Given the description of an element on the screen output the (x, y) to click on. 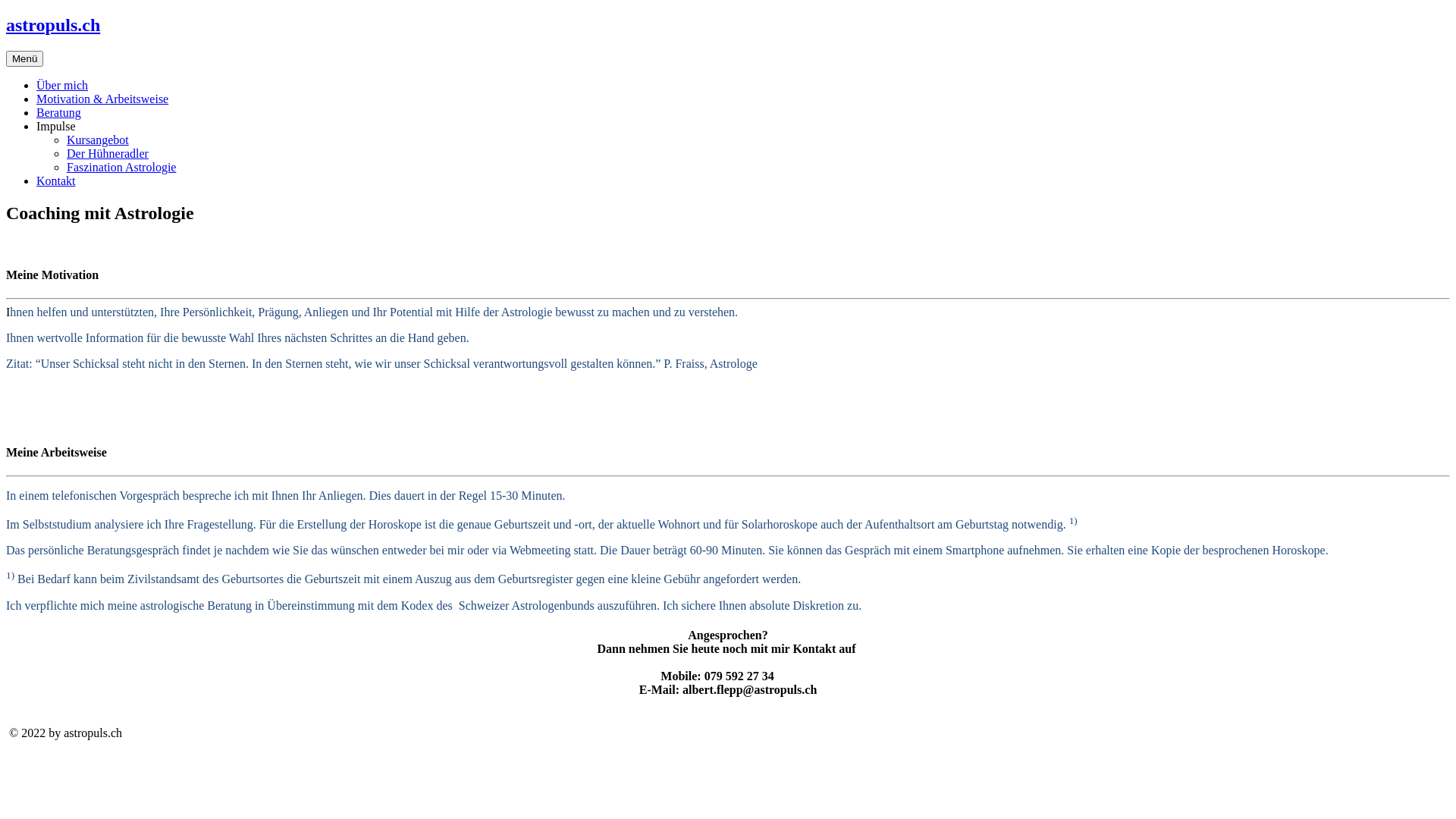
Motivation & Arbeitsweise Element type: text (102, 98)
Kontakt Element type: text (55, 180)
Beratung Element type: text (58, 112)
Faszination Astrologie Element type: text (120, 166)
Kursangebot Element type: text (97, 139)
astropuls.ch Element type: text (53, 24)
